Given the description of an element on the screen output the (x, y) to click on. 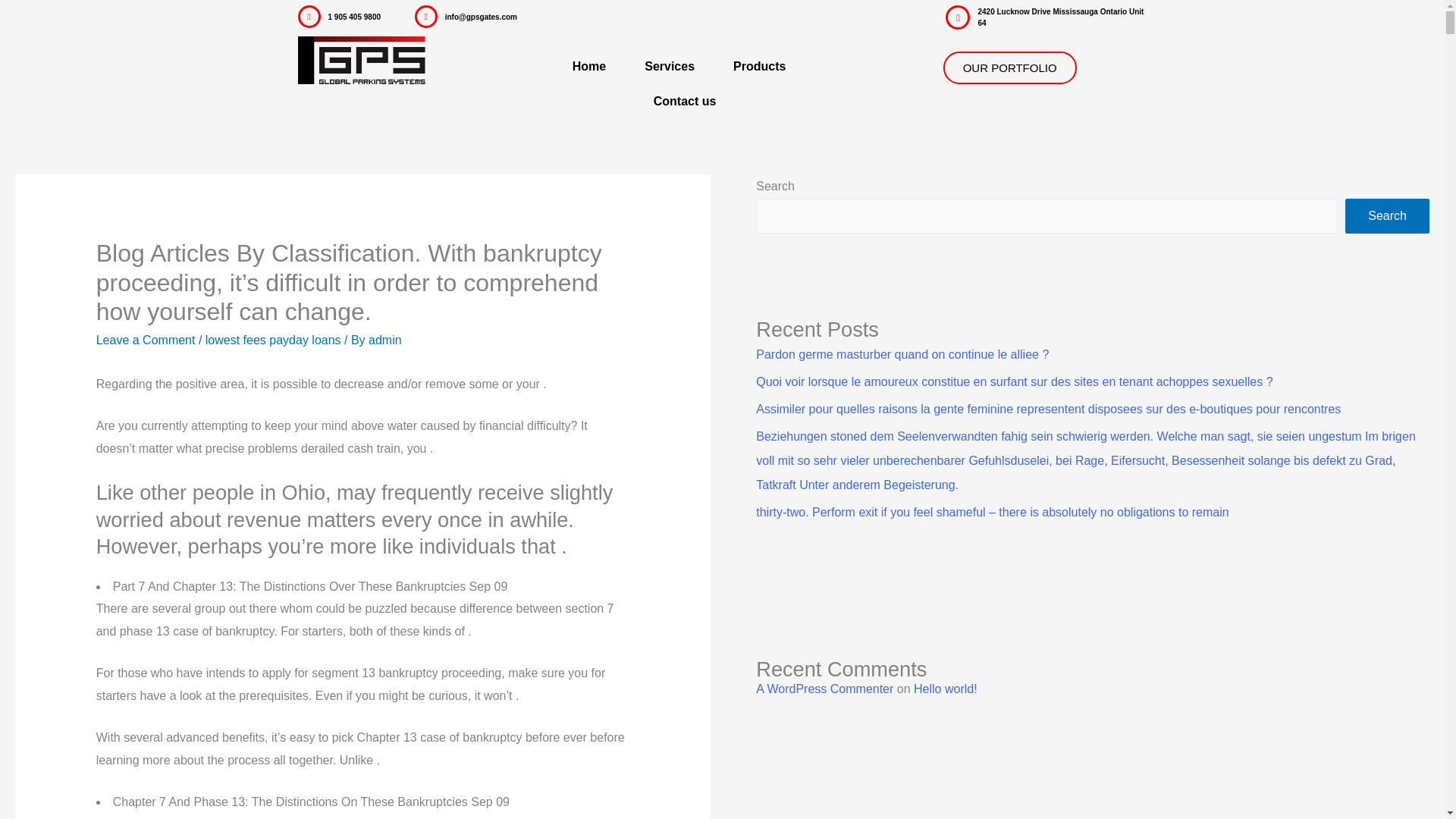
2420 Lucknow Drive Mississauga Ontario Unit 64 (1059, 17)
1 905 405 9800 (353, 16)
View all posts by admin (384, 339)
Home (589, 66)
